Given the description of an element on the screen output the (x, y) to click on. 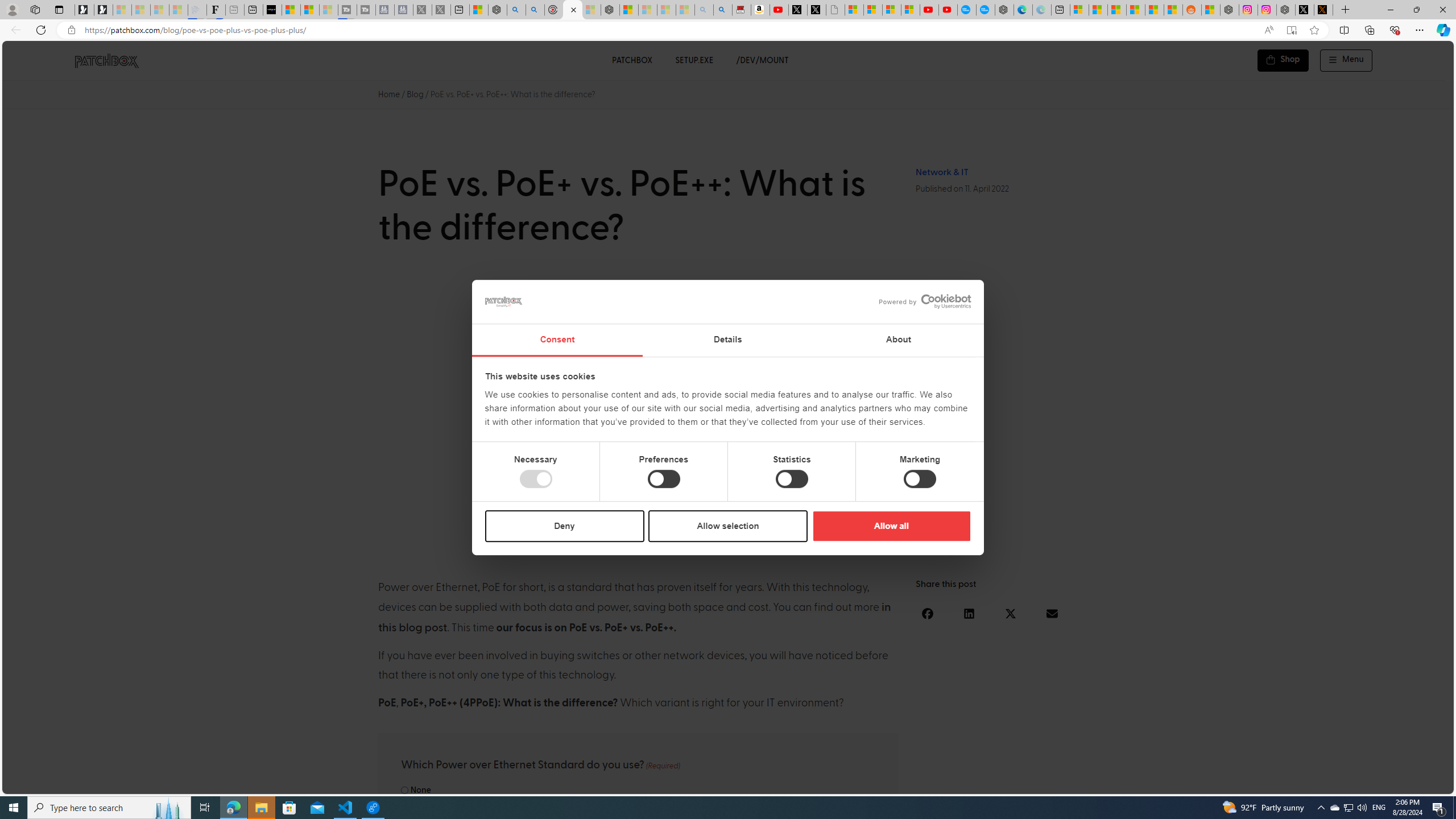
Language switcher : Swedish (1356, 782)
Share on linkedin (968, 613)
/DEV/MOUNT (762, 60)
Enter Immersive Reader (F9) (1291, 29)
Deny (564, 525)
Share on x-twitter (1010, 613)
